Given the description of an element on the screen output the (x, y) to click on. 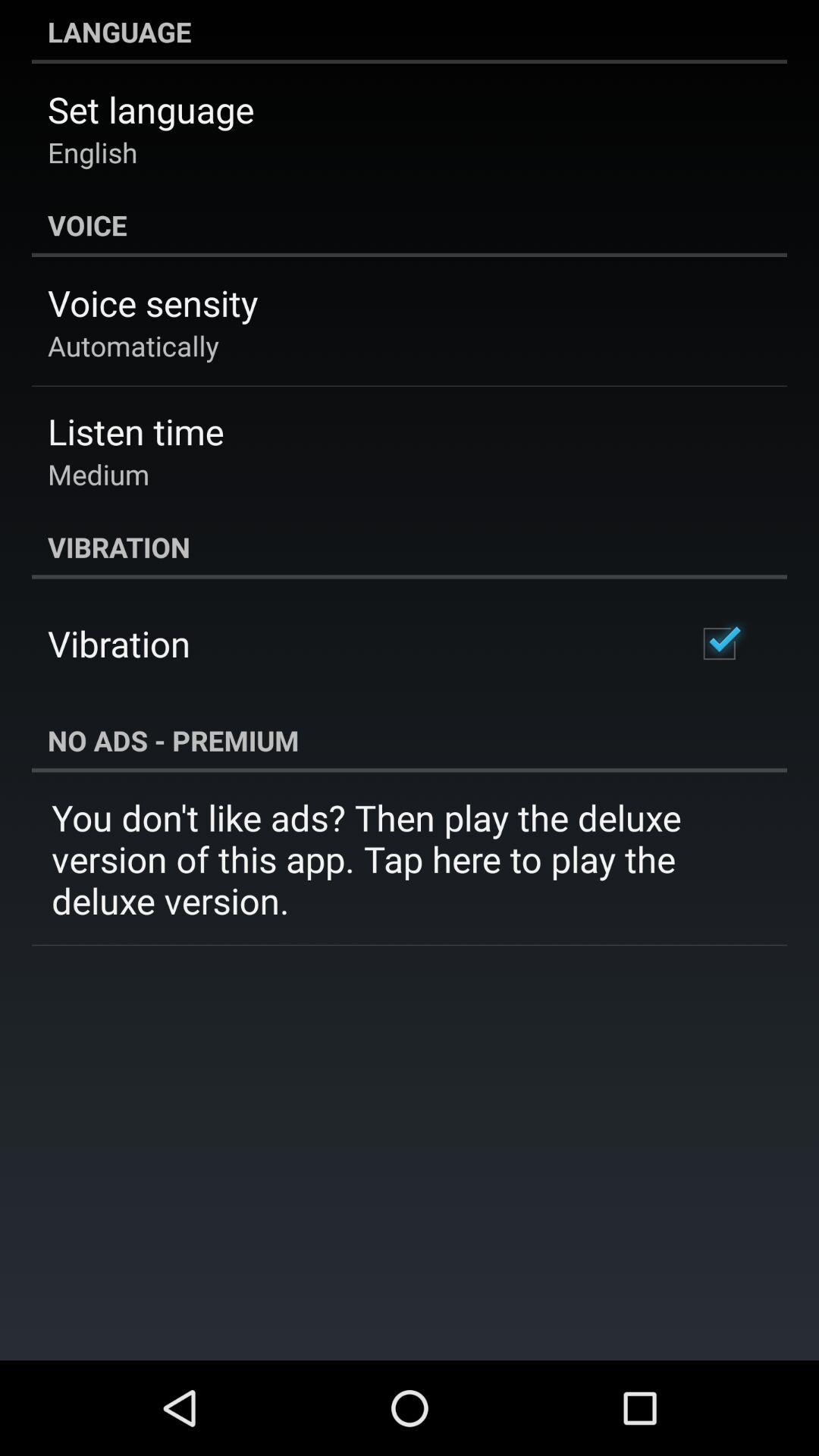
jump until no ads - premium item (409, 740)
